Given the description of an element on the screen output the (x, y) to click on. 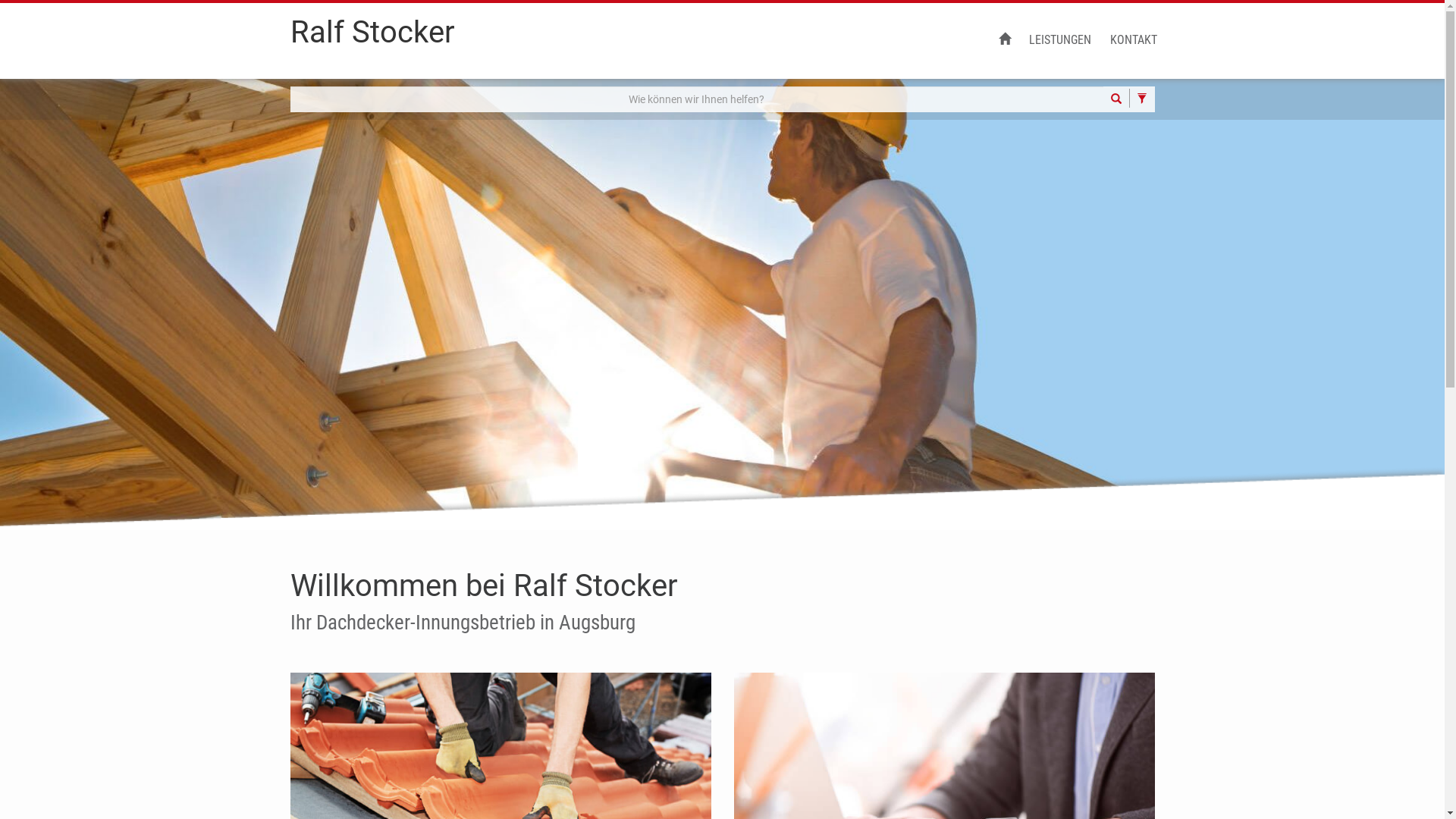
KONTAKT Element type: text (1133, 40)
LEISTUNGEN Element type: text (1059, 40)
Ralf Stocker Element type: text (371, 38)
Leistungen Element type: hover (499, 797)
Kontakt Element type: hover (944, 797)
